Given the description of an element on the screen output the (x, y) to click on. 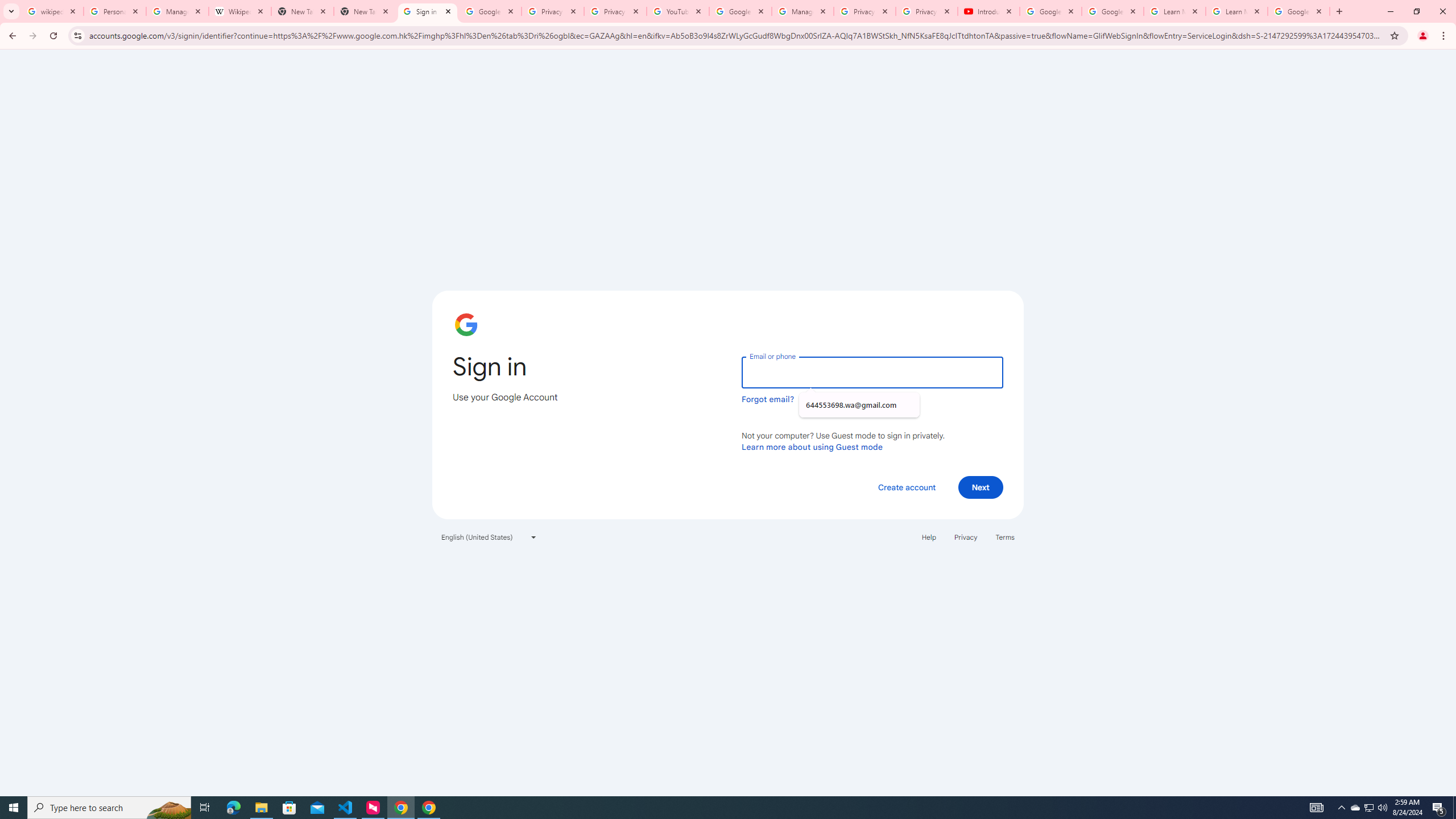
Forgot email? (767, 398)
644553698.wa@gmail.com (858, 404)
Google Drive: Sign-in (490, 11)
Personalization & Google Search results - Google Search Help (114, 11)
Google Account (1298, 11)
